Given the description of an element on the screen output the (x, y) to click on. 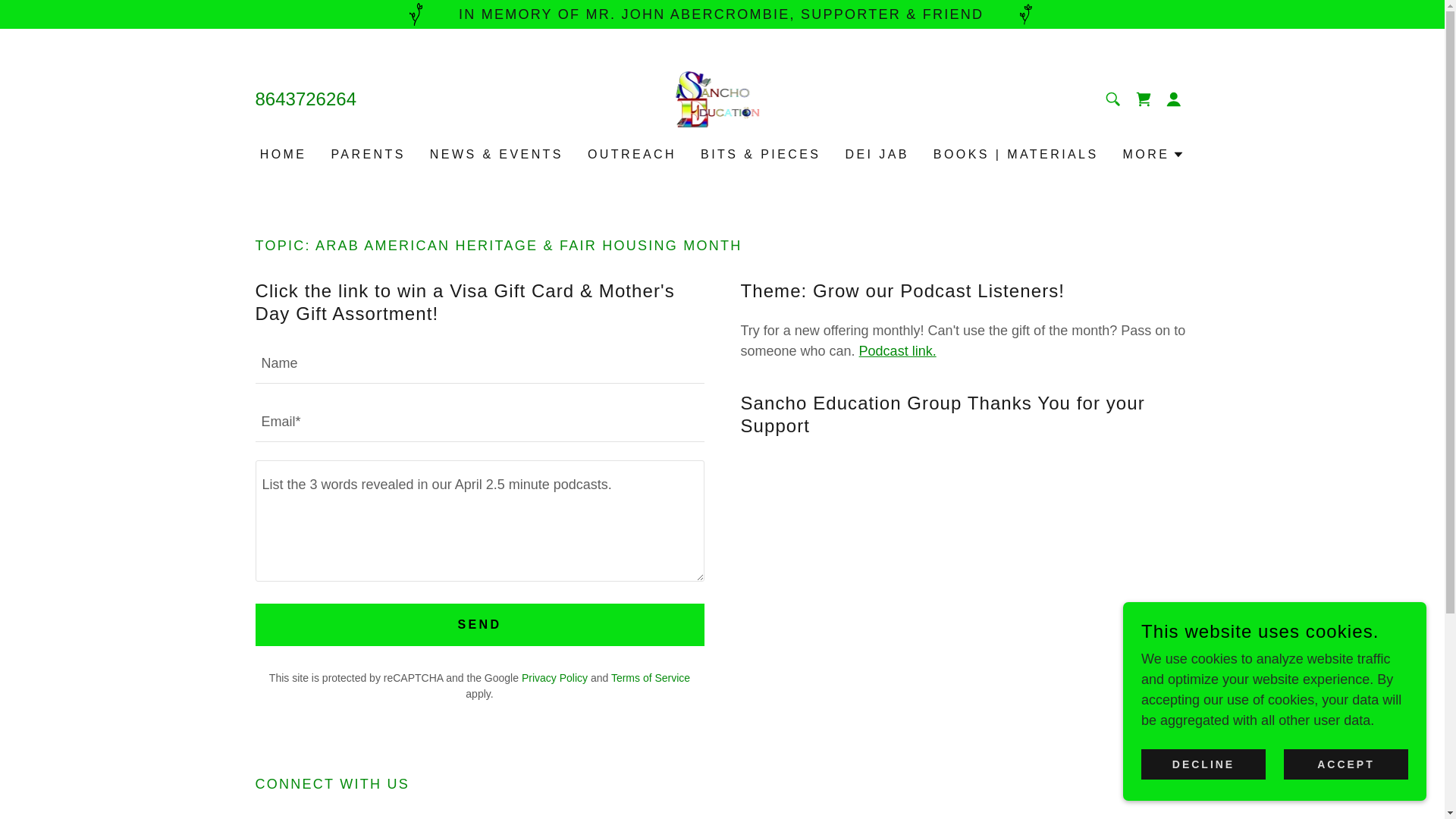
HOME (283, 154)
OUTREACH (632, 154)
Sancho Education (722, 98)
DEI JAB (876, 154)
8643726264 (304, 98)
MORE (1153, 154)
PARENTS (367, 154)
